Given the description of an element on the screen output the (x, y) to click on. 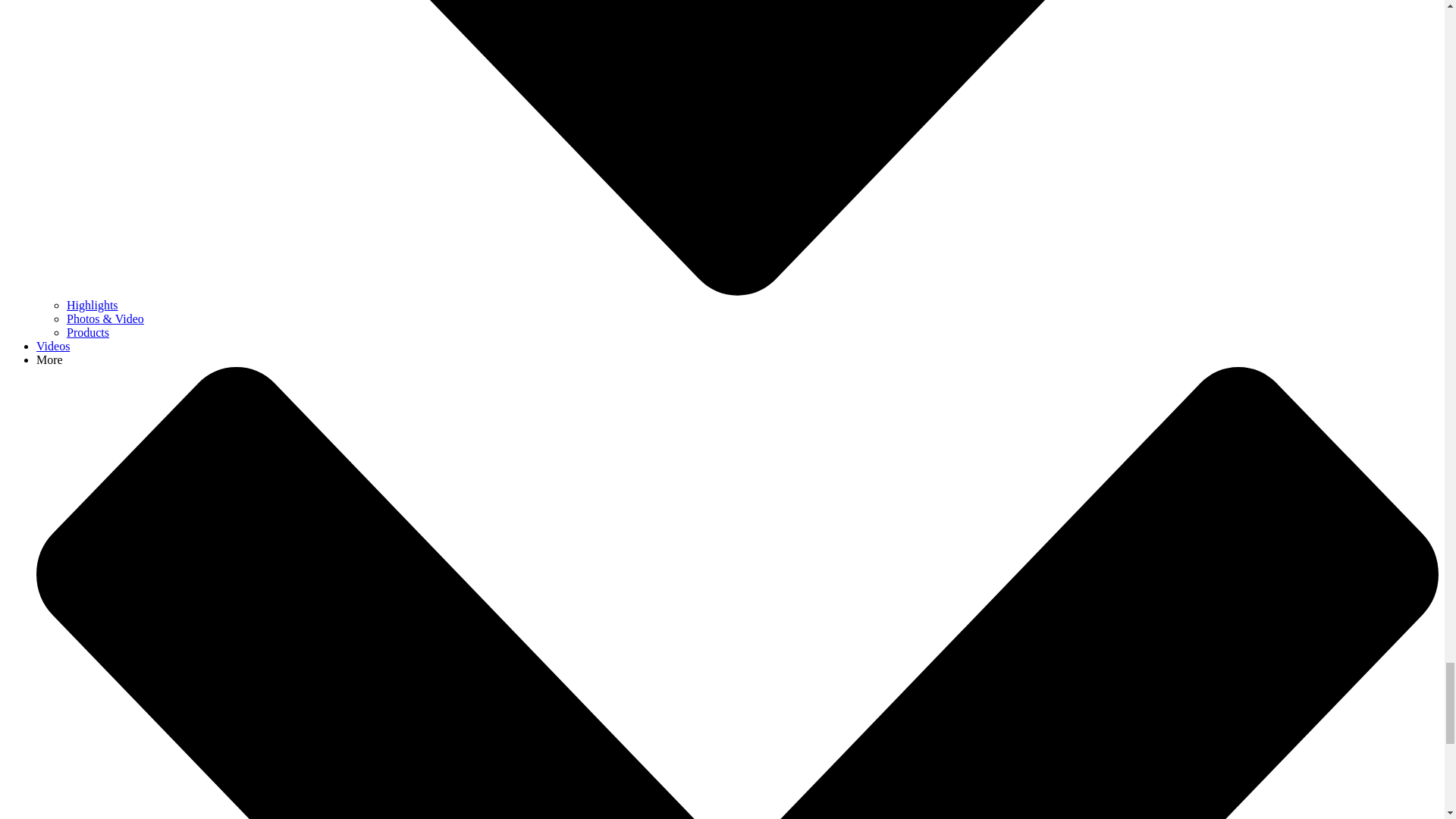
More (49, 359)
Highlights (91, 305)
Videos (52, 345)
Products (87, 332)
